Given the description of an element on the screen output the (x, y) to click on. 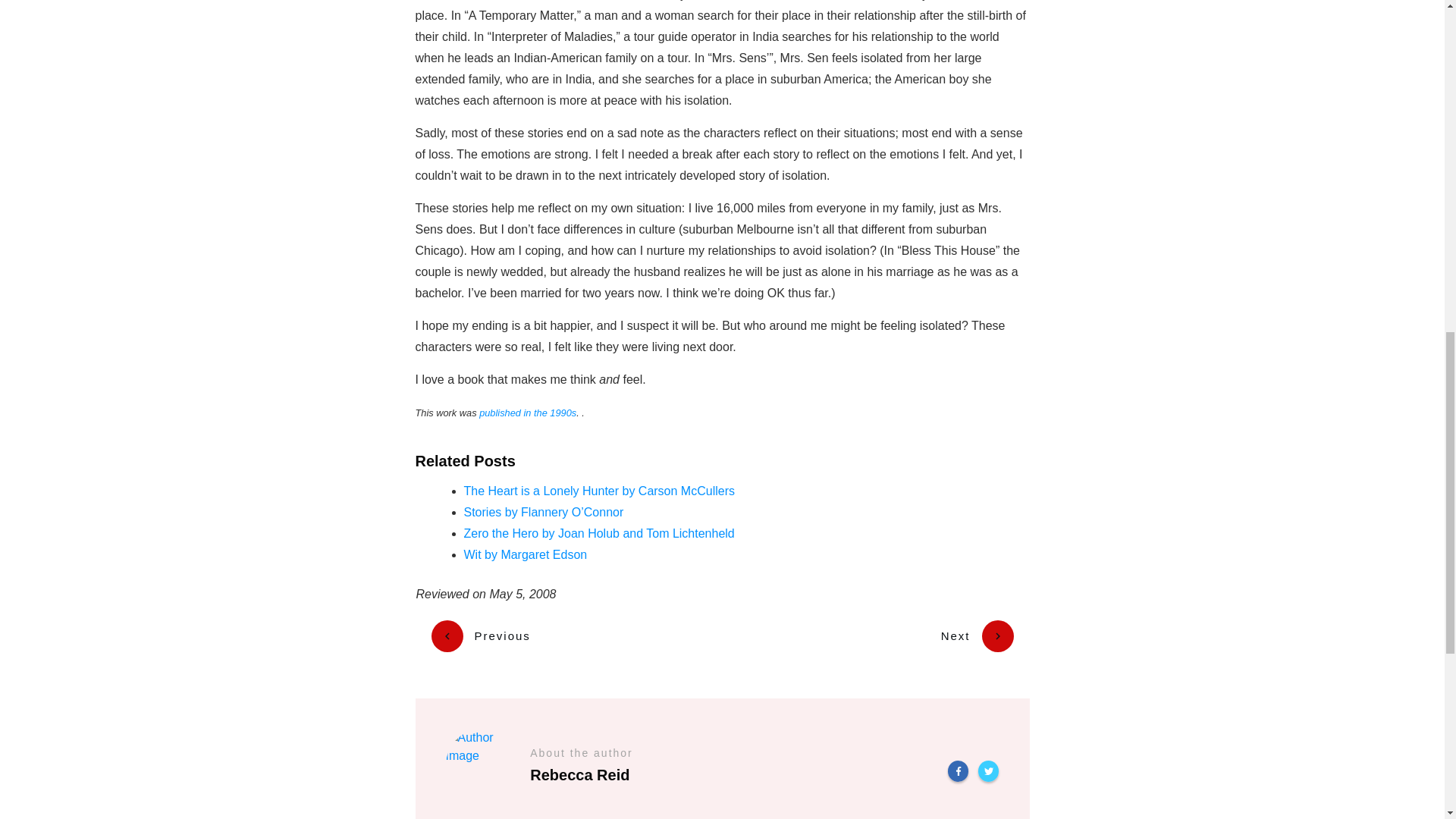
published in the 1990s (527, 412)
